Given the description of an element on the screen output the (x, y) to click on. 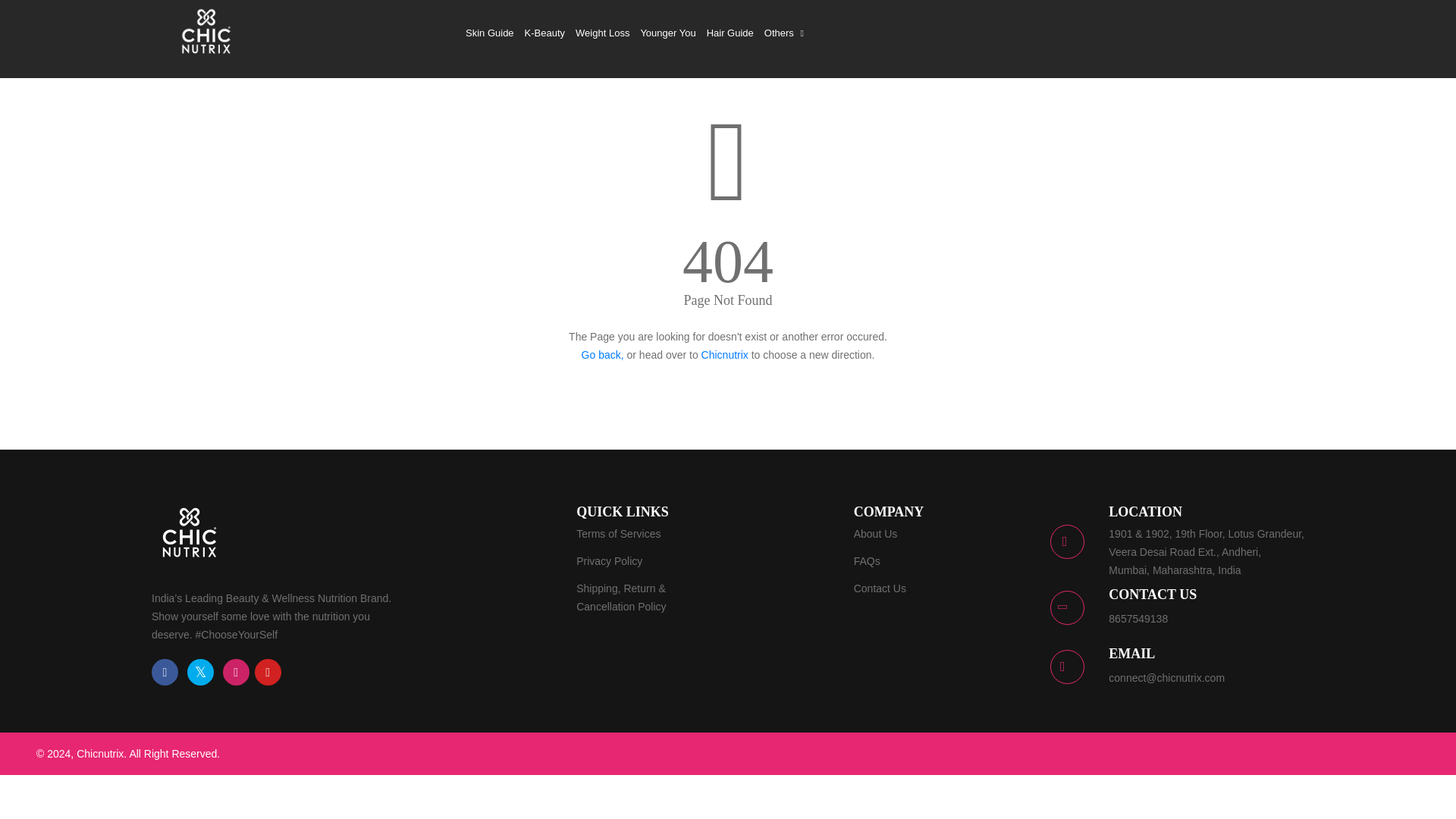
8657549138 (1137, 618)
About Us (875, 533)
Others (785, 33)
Go back, (602, 354)
Skin Guide (489, 33)
Hair Guide (729, 33)
Contact Us (879, 588)
Chicnutrix (724, 354)
Privacy Policy (609, 561)
Terms of Services (618, 533)
